Given the description of an element on the screen output the (x, y) to click on. 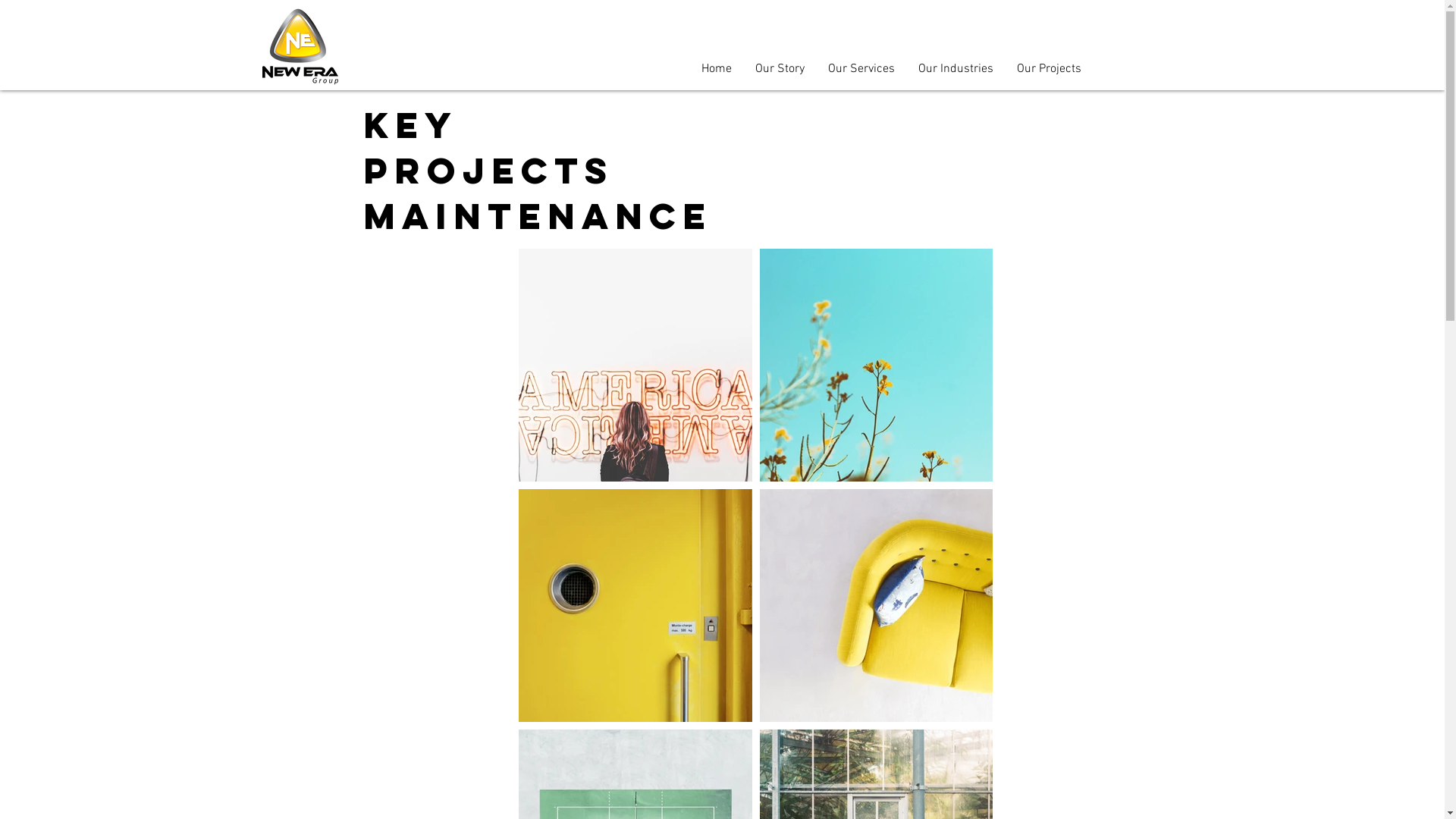
Home Element type: text (716, 69)
